Given the description of an element on the screen output the (x, y) to click on. 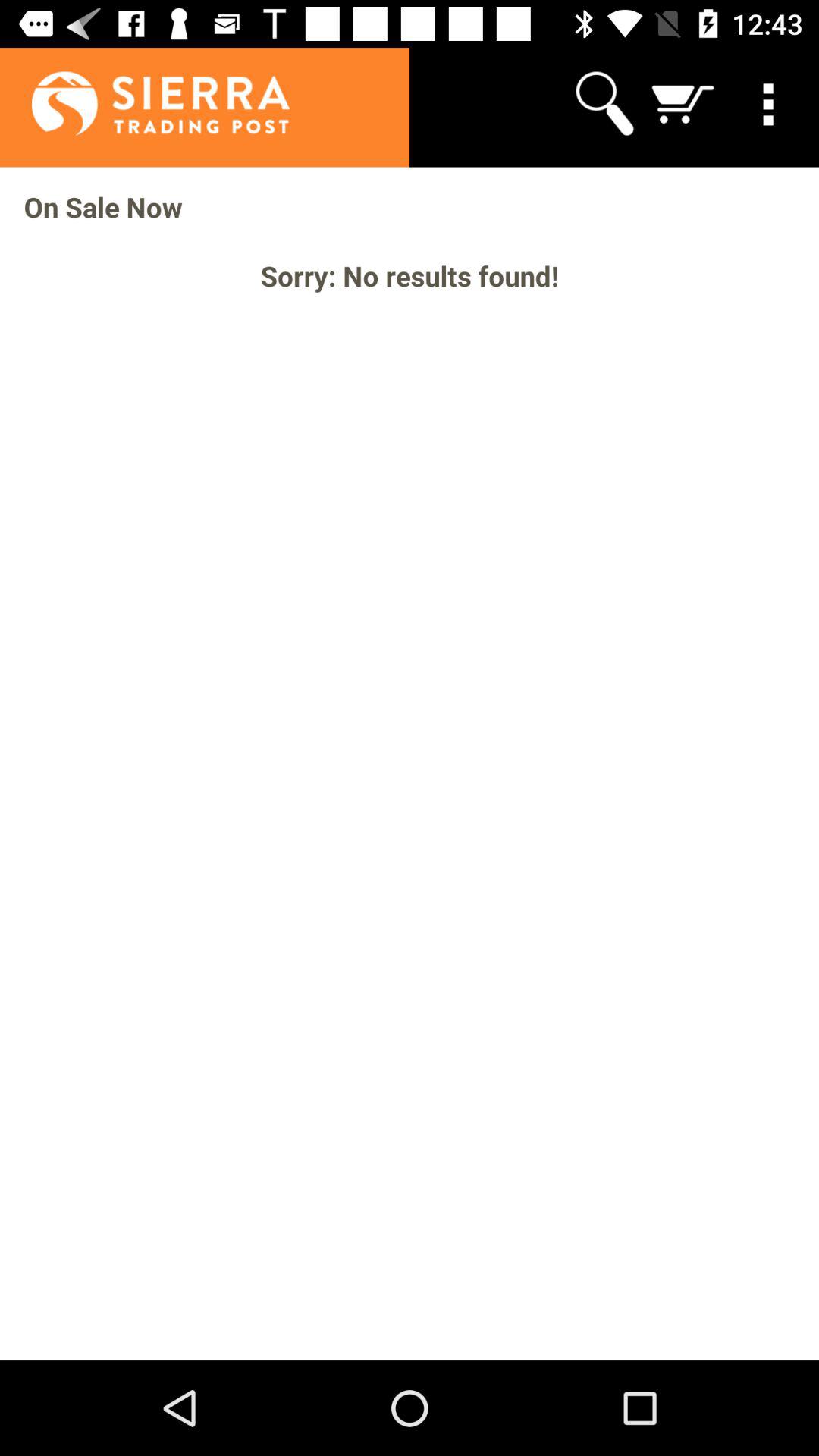
turn on icon above on sale now item (771, 103)
